Given the description of an element on the screen output the (x, y) to click on. 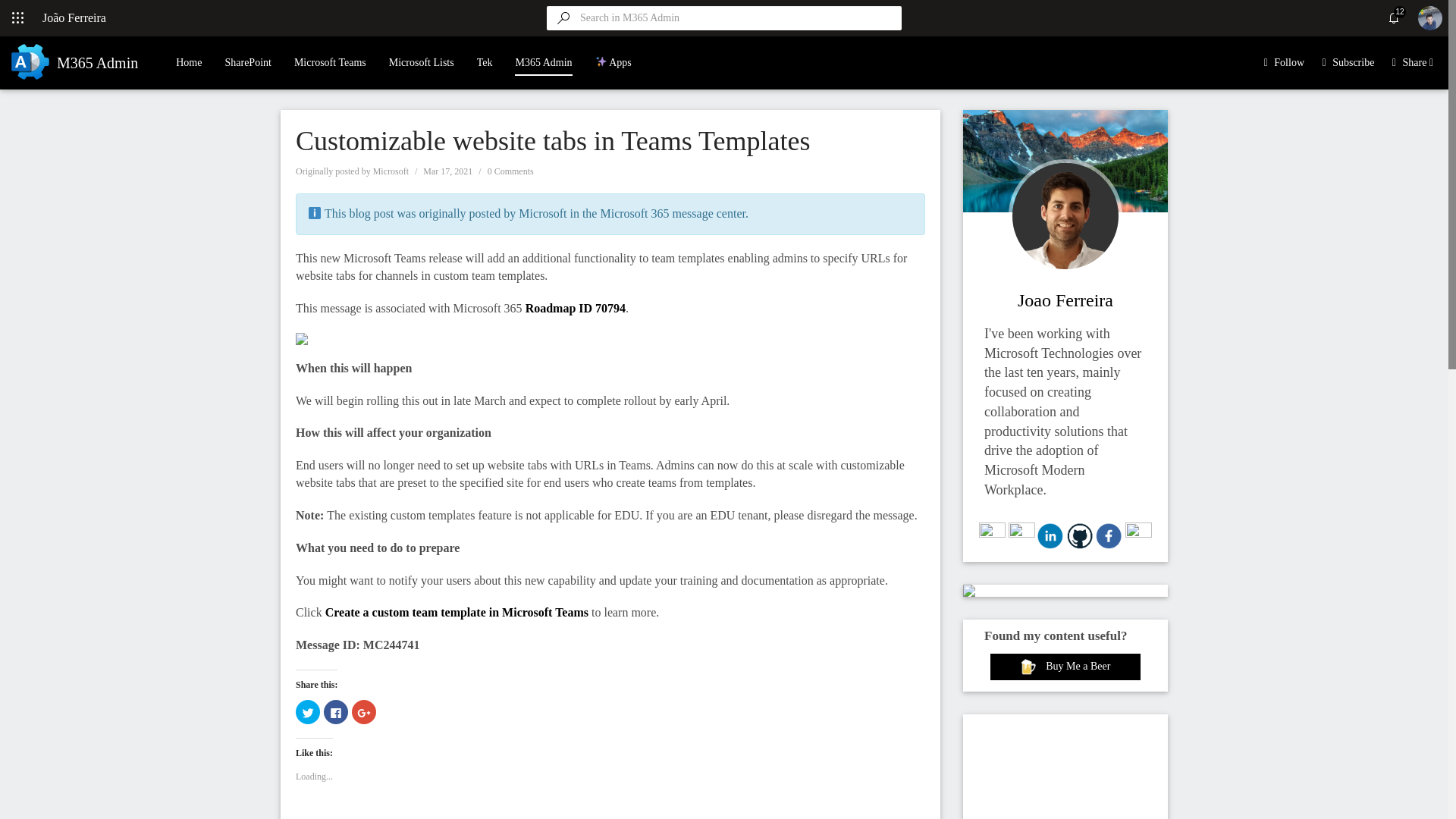
Create a custom team template in Microsoft Teams (456, 612)
M365 Admin (543, 56)
Search (889, 17)
Follow (1289, 61)
Home (189, 62)
Subscribe (1353, 61)
Tek (485, 62)
M365 Admin (70, 62)
0 Comments (510, 171)
Microsoft Lists (421, 62)
Search (889, 17)
Apps (613, 62)
Roadmap ID 70794 (575, 308)
Comment on Customizable website tabs in Teams Templates (510, 171)
Click to share on Facebook (335, 711)
